Given the description of an element on the screen output the (x, y) to click on. 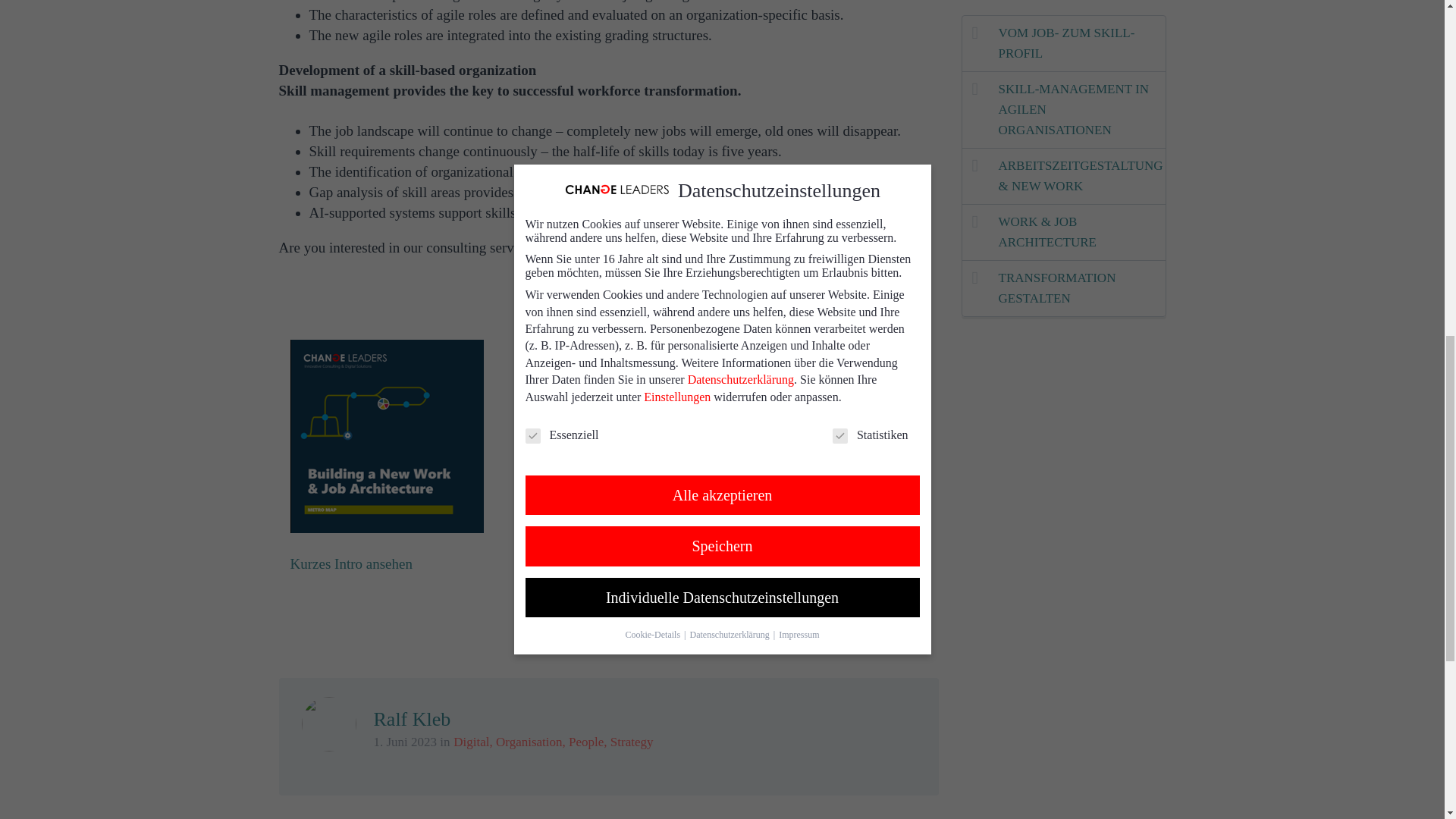
View all posts in Strategy (631, 741)
View all posts in People (586, 741)
View all posts in Digital (470, 741)
View all posts in Organisation (529, 741)
